Given the description of an element on the screen output the (x, y) to click on. 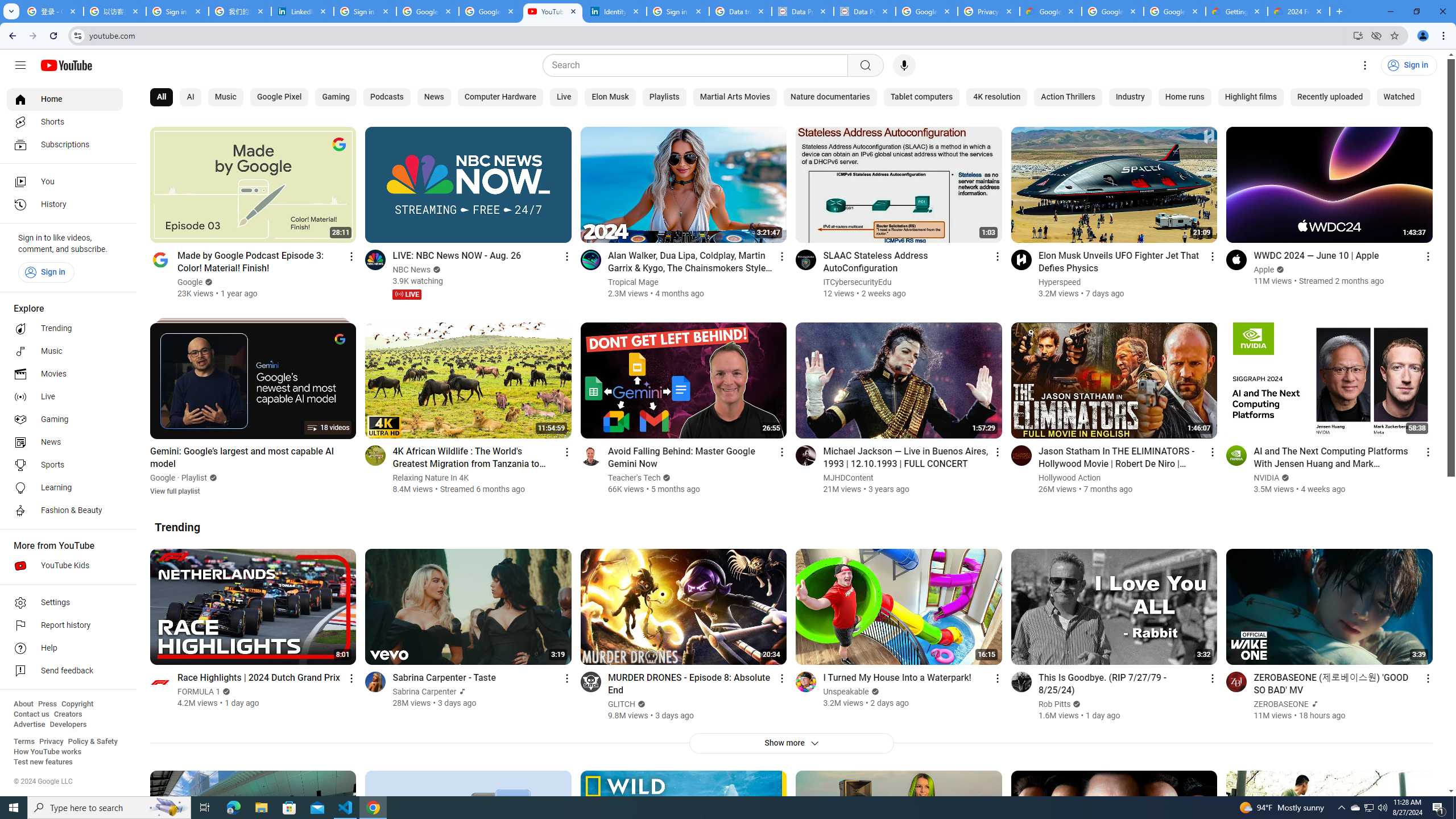
Industry (1129, 97)
Music (225, 97)
Data Privacy Framework (802, 11)
Guide (20, 65)
Recently uploaded (1330, 97)
Google Workspace - Specific Terms (1111, 11)
Install YouTube (1358, 35)
Google Workspace - Specific Terms (1174, 11)
